Given the description of an element on the screen output the (x, y) to click on. 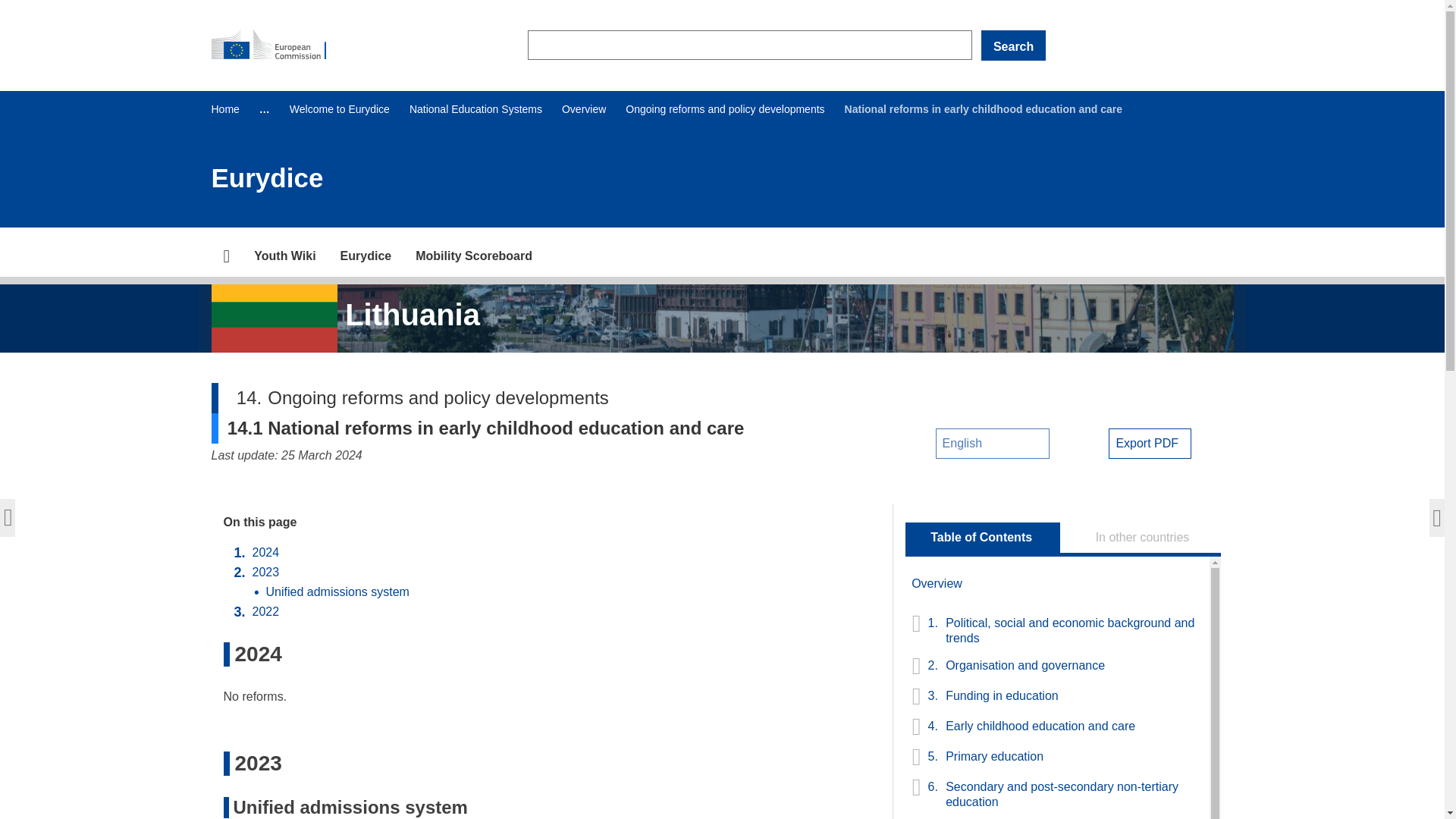
Overview (583, 109)
European Commission (275, 45)
Mobility Scoreboard (473, 255)
Home (224, 109)
Welcome to Eurydice (339, 109)
Ongoing reforms and policy developments (725, 109)
Contact (366, 255)
Skip to main content (5, 6)
National Education Systems (475, 109)
Eurydice (366, 255)
